Given the description of an element on the screen output the (x, y) to click on. 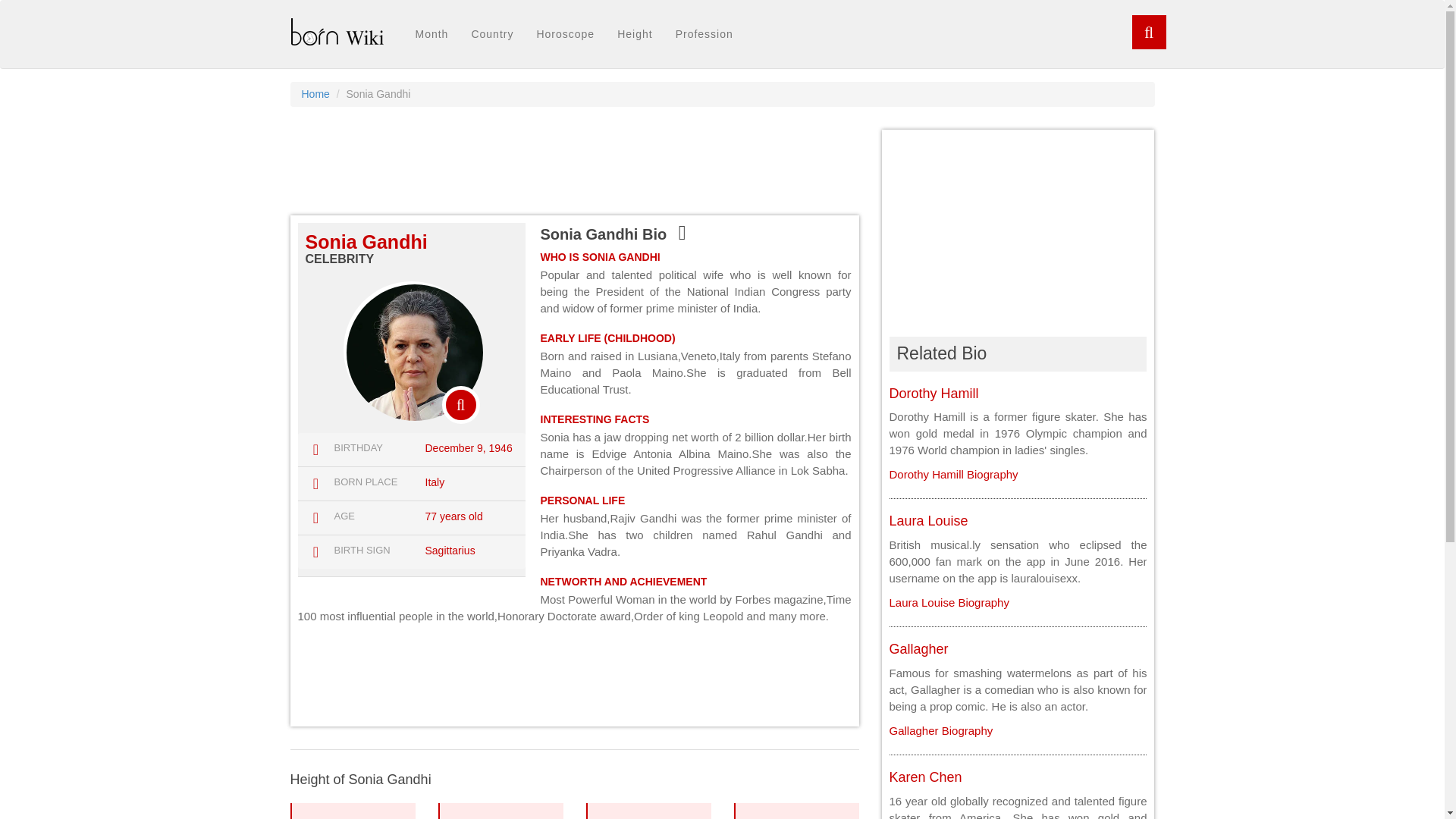
Country (492, 34)
Dorothy Hamill (933, 393)
Karen Chen (796, 811)
Gallagher (924, 776)
Sagittarius (917, 648)
Month (449, 550)
Laura Louise (431, 34)
CELEBRITY (948, 602)
Italy (339, 258)
Laura Louise Biography (434, 481)
Home (948, 602)
Laura Louise (315, 93)
Dorothy Hamill Biography (928, 520)
Profession (952, 473)
